Given the description of an element on the screen output the (x, y) to click on. 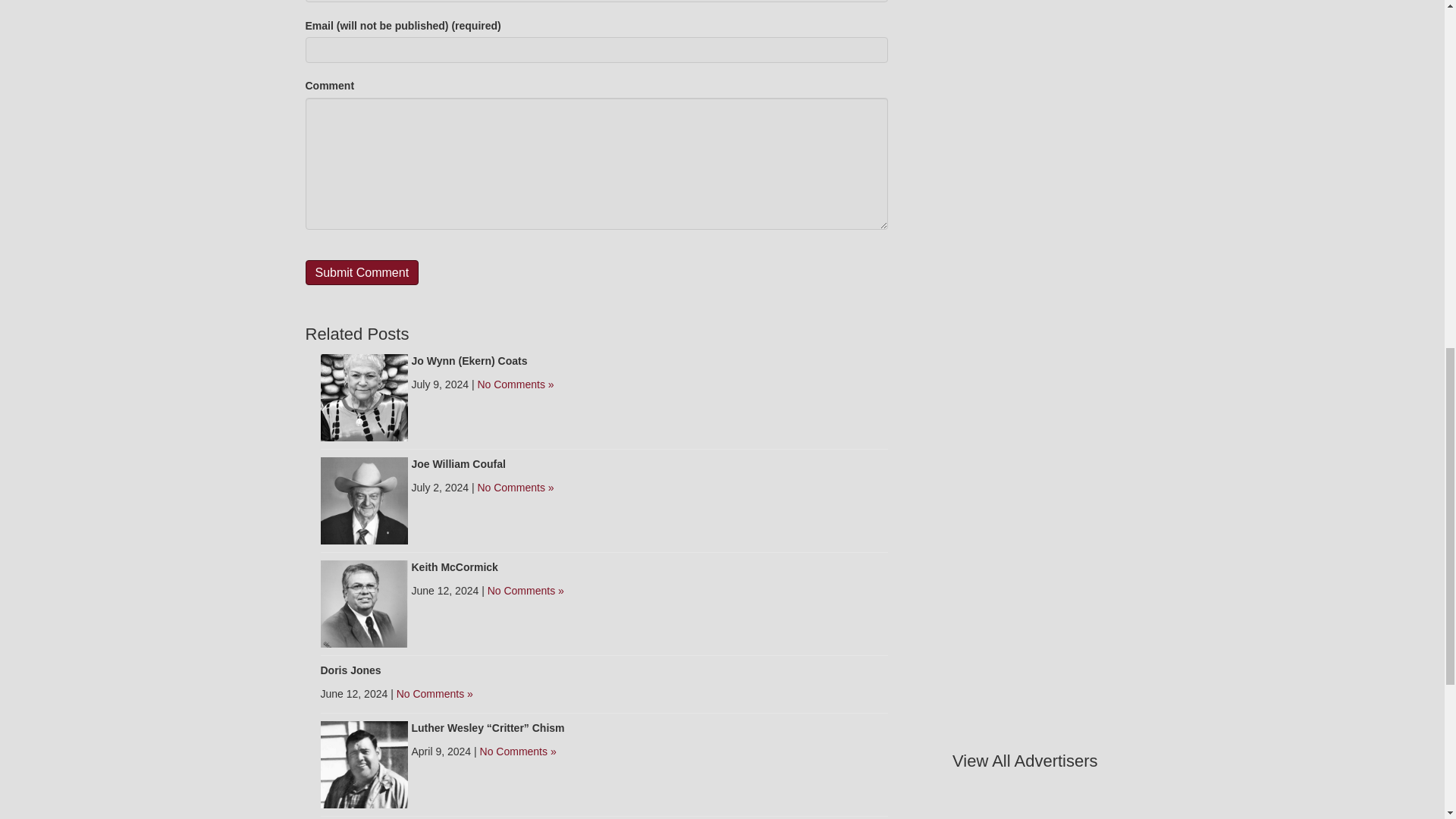
Keith McCormick (453, 567)
Doris Jones (350, 670)
Submit Comment (361, 272)
Joe William Coufal (457, 463)
Keith McCormick (363, 603)
Submit Comment (361, 272)
Joe William Coufal (457, 463)
Joe William Coufal (363, 499)
